Given the description of an element on the screen output the (x, y) to click on. 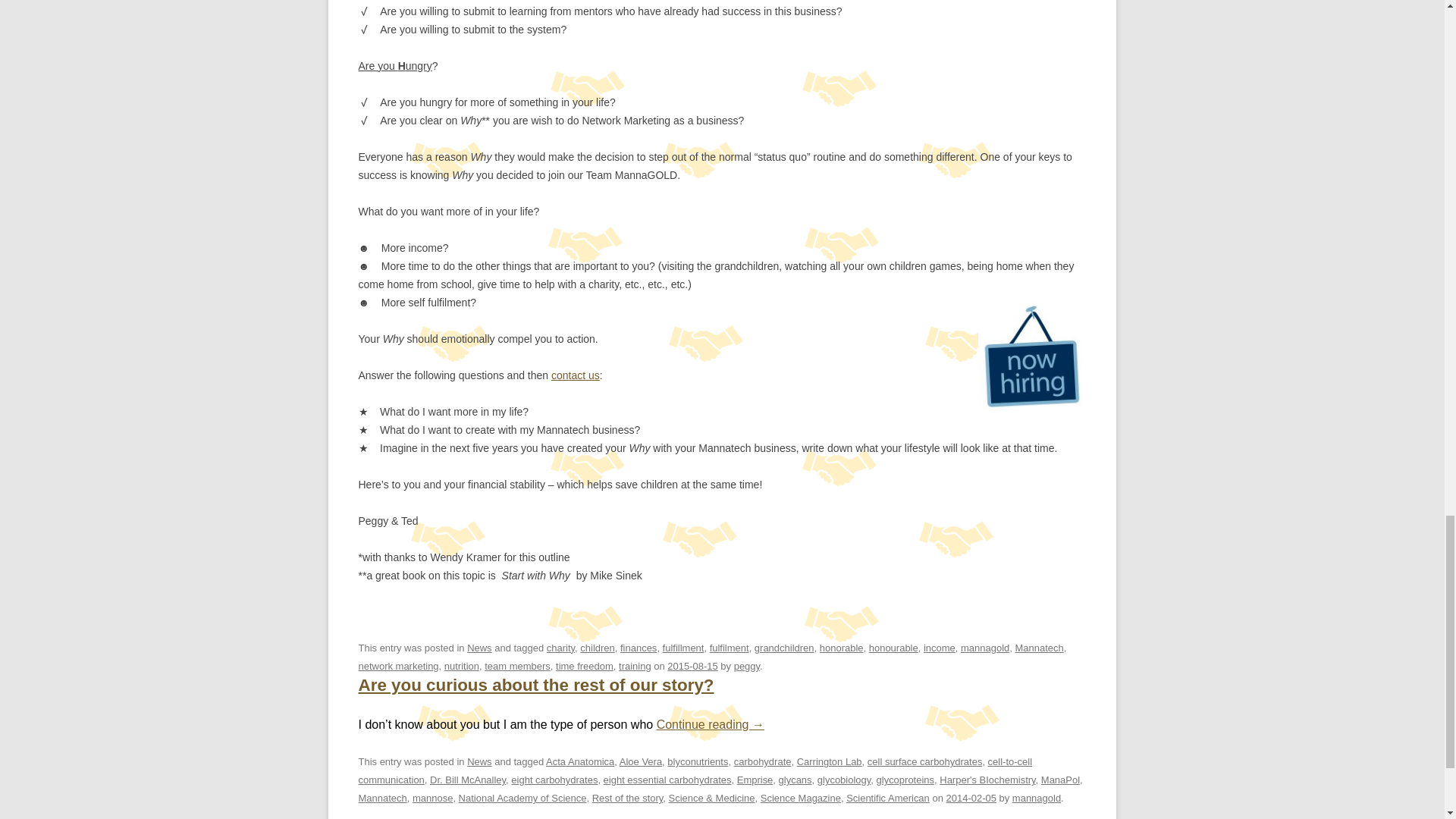
4:47 pm (970, 797)
View all posts by mannagold (1036, 797)
View all posts by peggy (746, 665)
11:03 pm (691, 665)
